Given the description of an element on the screen output the (x, y) to click on. 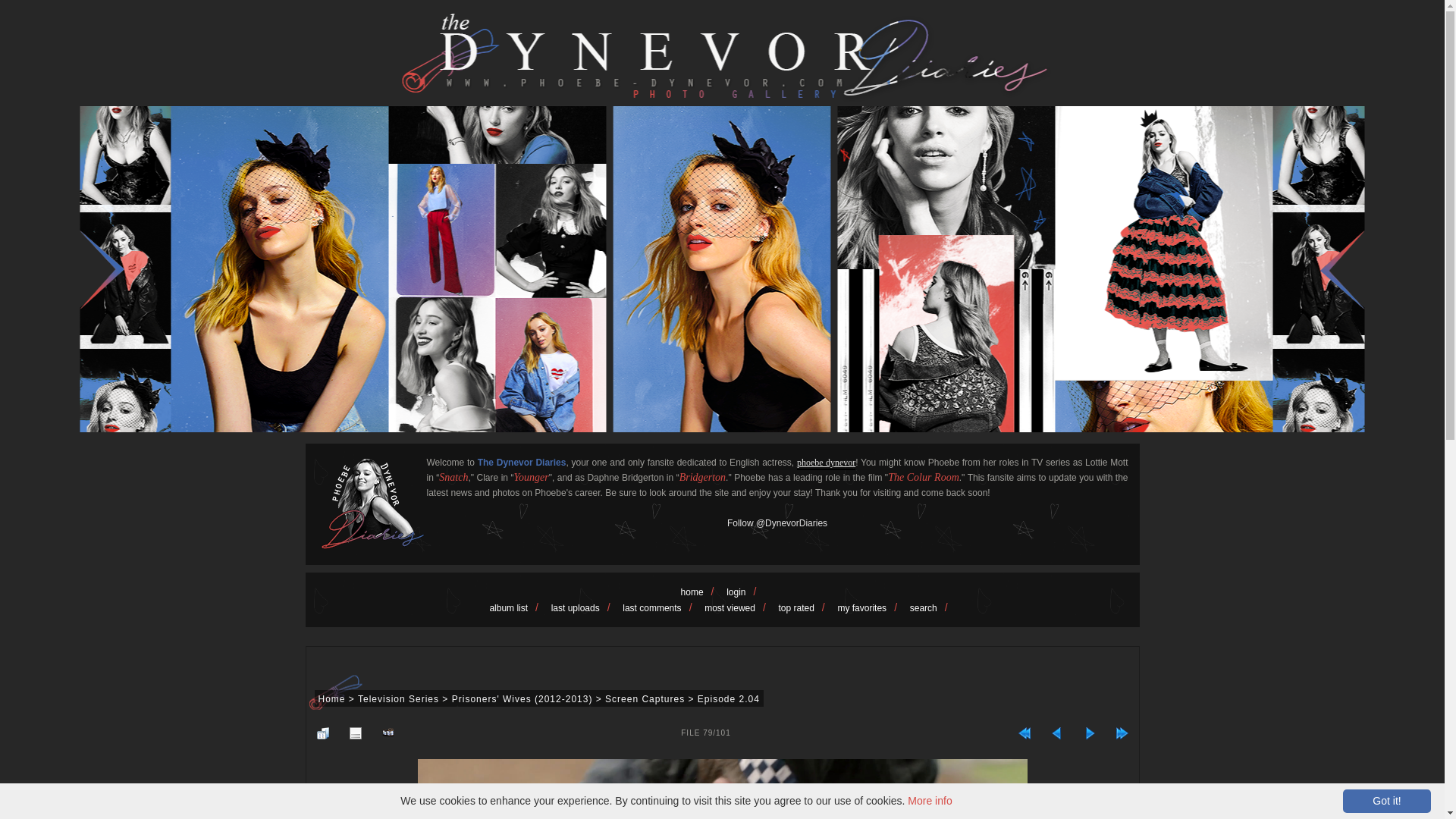
See next file (1089, 732)
Screen Captures (644, 698)
search (932, 607)
Show most recent comments (660, 607)
Show most viewed items (738, 607)
Slideshow (386, 732)
Television Series (398, 698)
last comments (660, 607)
Show most recent uploads (584, 607)
Return to start (1024, 732)
home (701, 592)
Home (332, 698)
Go to the album list (517, 607)
Go to the home page (701, 592)
Show top rated items (804, 607)
